Given the description of an element on the screen output the (x, y) to click on. 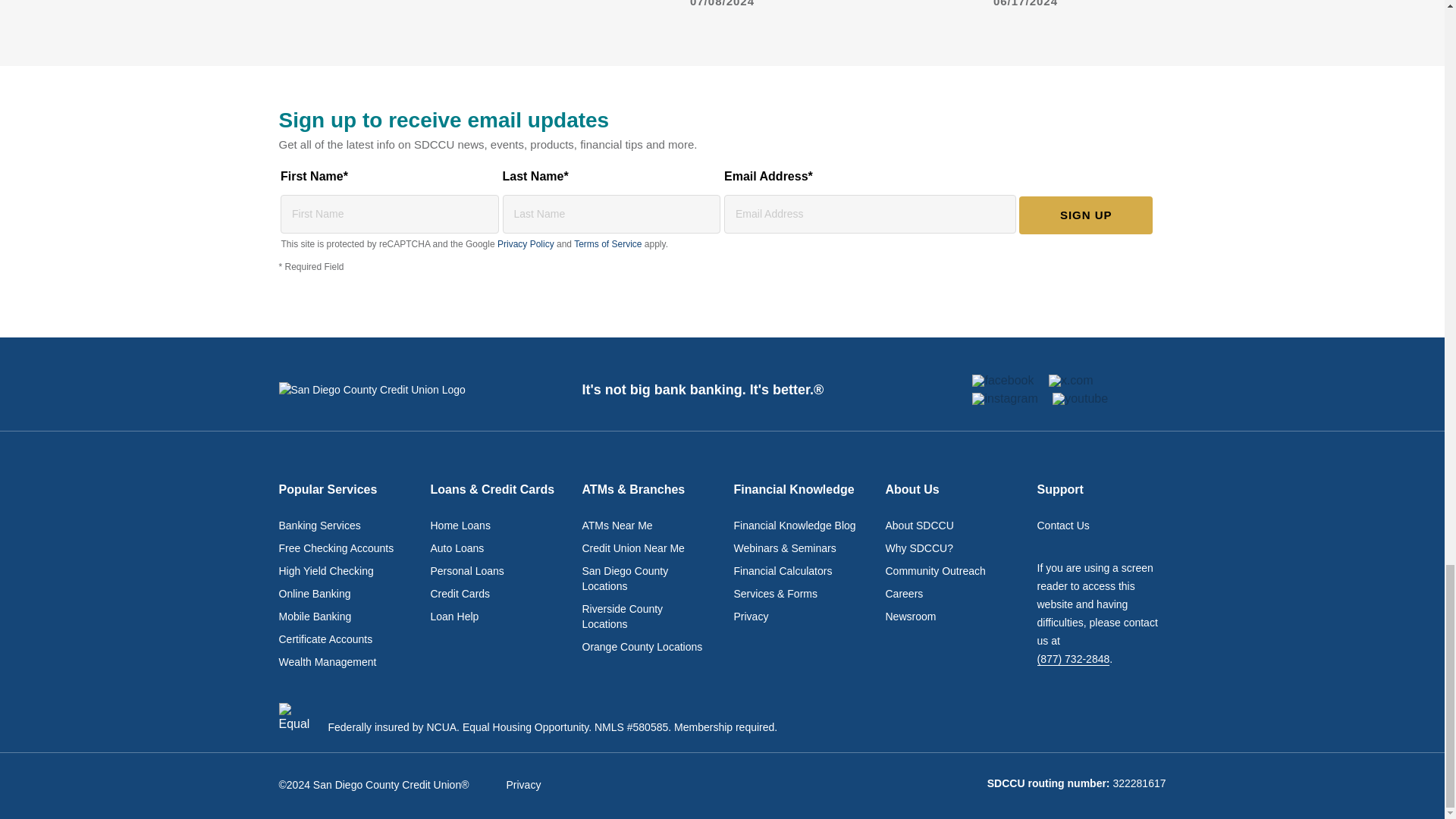
Go to San Diego Credit Union homepage (391, 389)
Phone Number (1072, 658)
Sign Up (1086, 215)
